Given the description of an element on the screen output the (x, y) to click on. 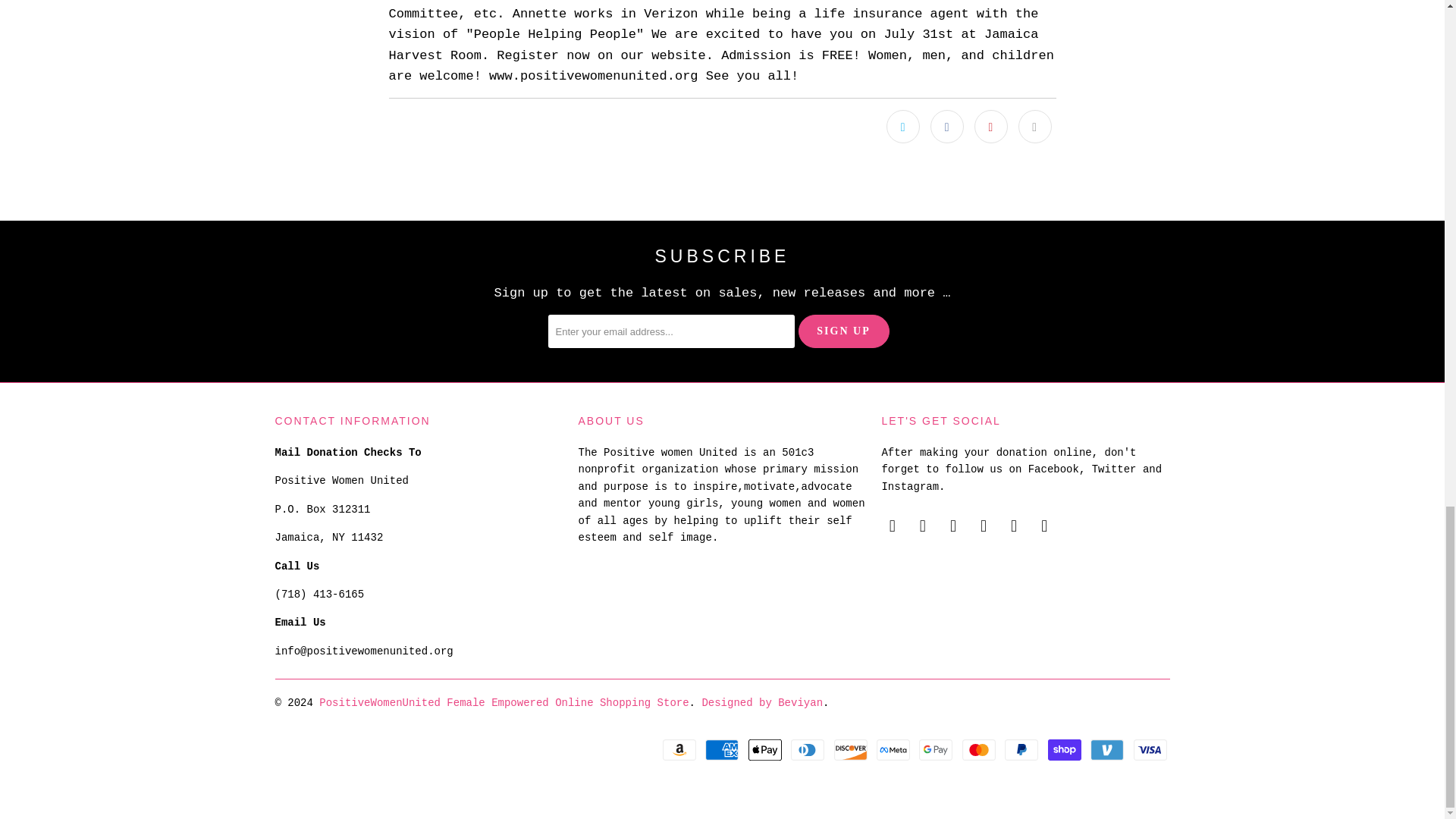
American Express (722, 749)
Apple Pay (766, 749)
Share this on Pinterest (990, 126)
Sign Up (842, 331)
Venmo (1108, 749)
Shop Pay (1066, 749)
Amazon (680, 749)
Diners Club (808, 749)
Share this on Facebook (946, 126)
